Given the description of an element on the screen output the (x, y) to click on. 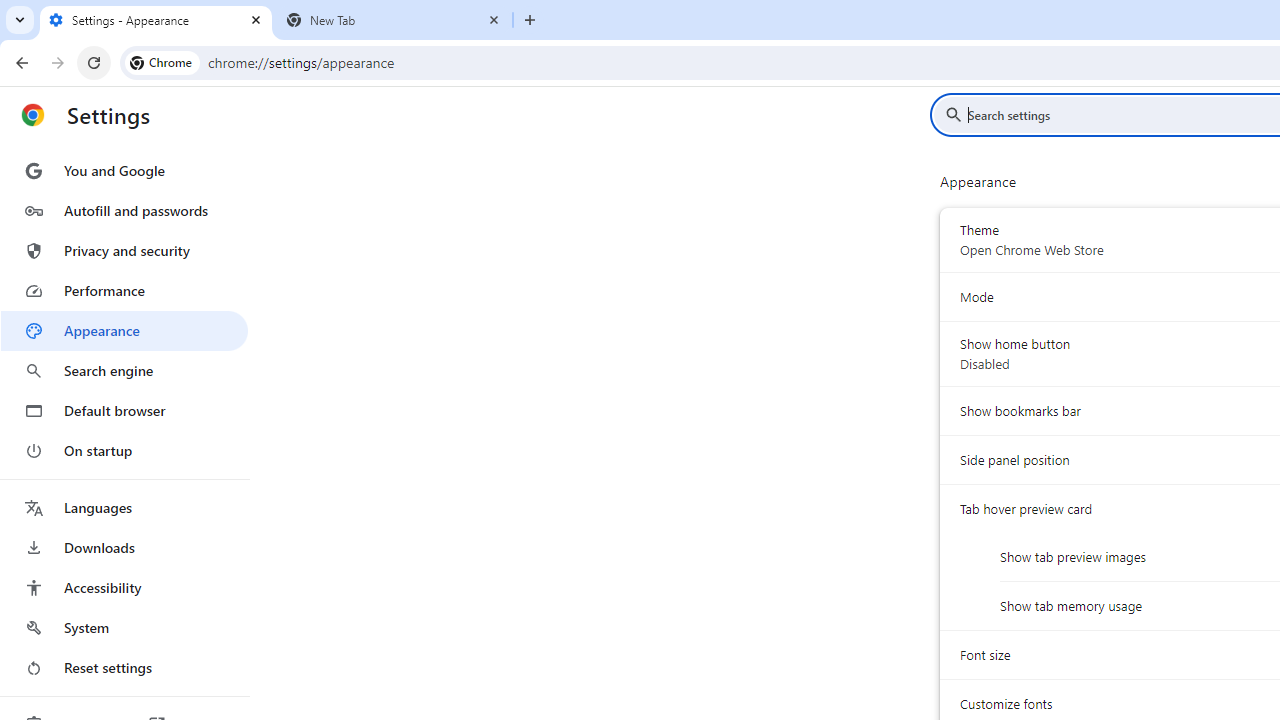
On startup (124, 450)
Settings - Appearance (156, 20)
New Tab (394, 20)
Privacy and security (124, 250)
Search engine (124, 370)
Downloads (124, 547)
Appearance (124, 331)
Default browser (124, 410)
Reset settings (124, 668)
